Given the description of an element on the screen output the (x, y) to click on. 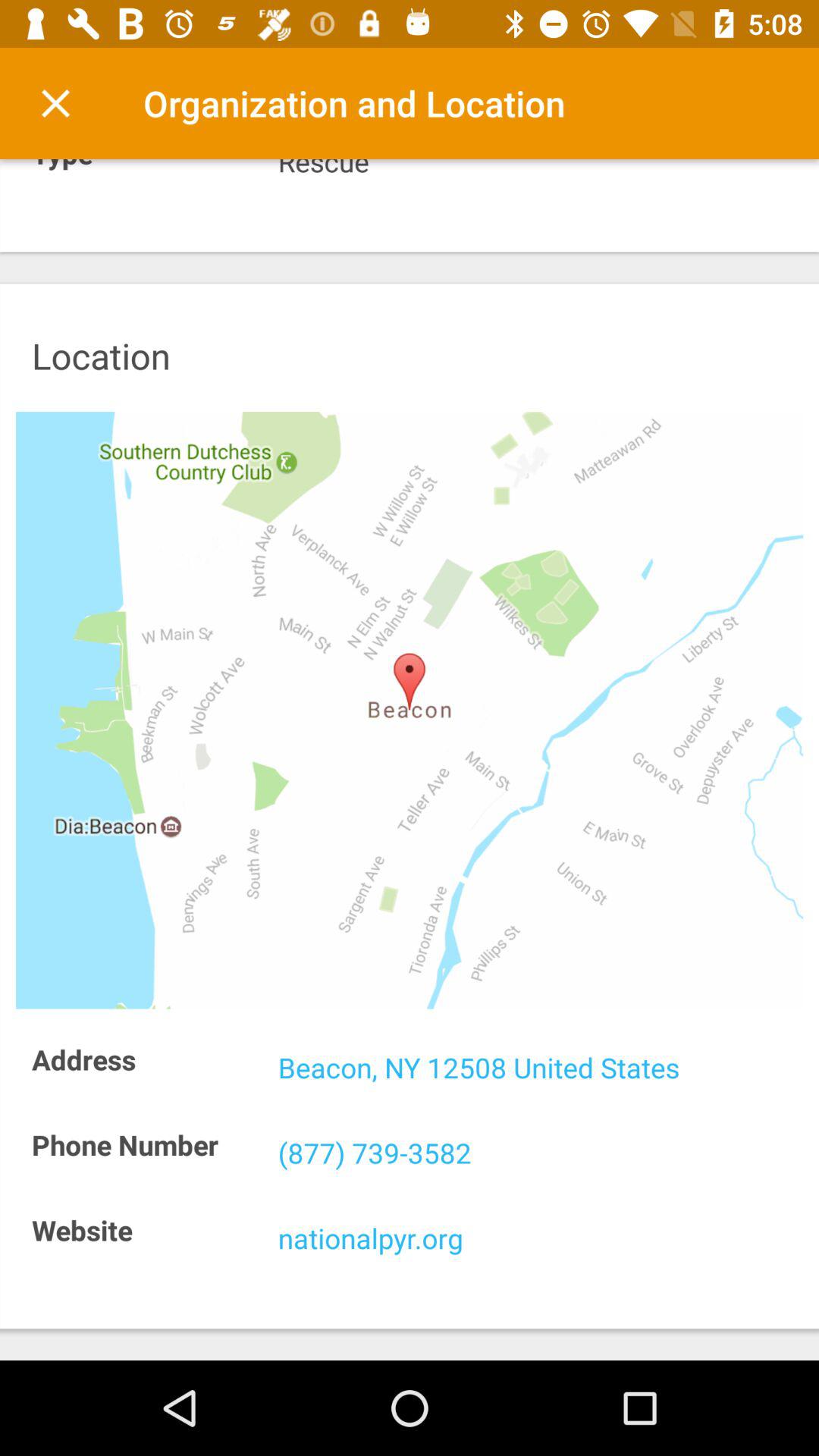
view map (409, 709)
